Given the description of an element on the screen output the (x, y) to click on. 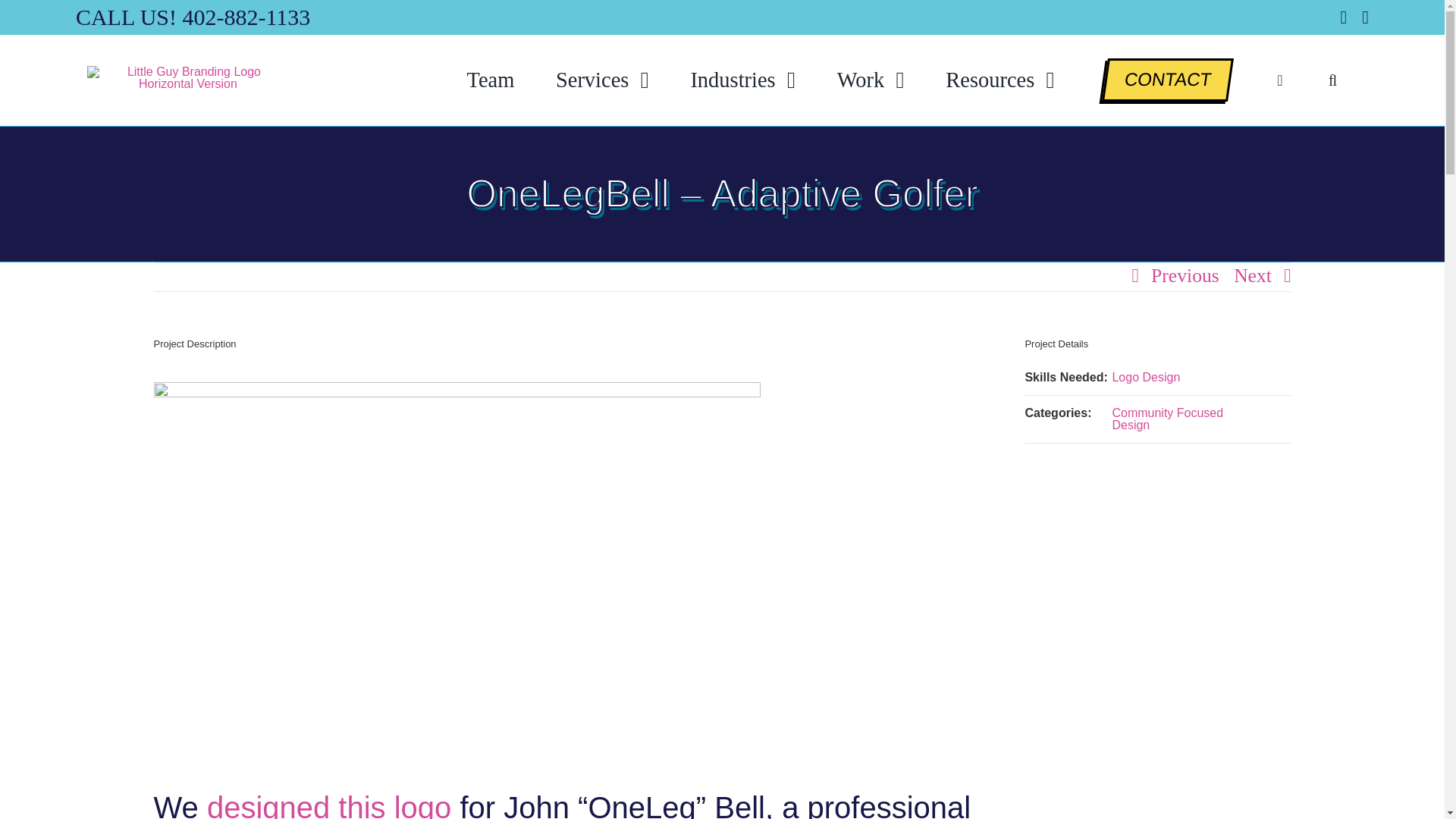
CALL US! 402-882-1133 (192, 16)
Services (602, 80)
Work (870, 80)
Team (489, 80)
Industries (742, 80)
